Given the description of an element on the screen output the (x, y) to click on. 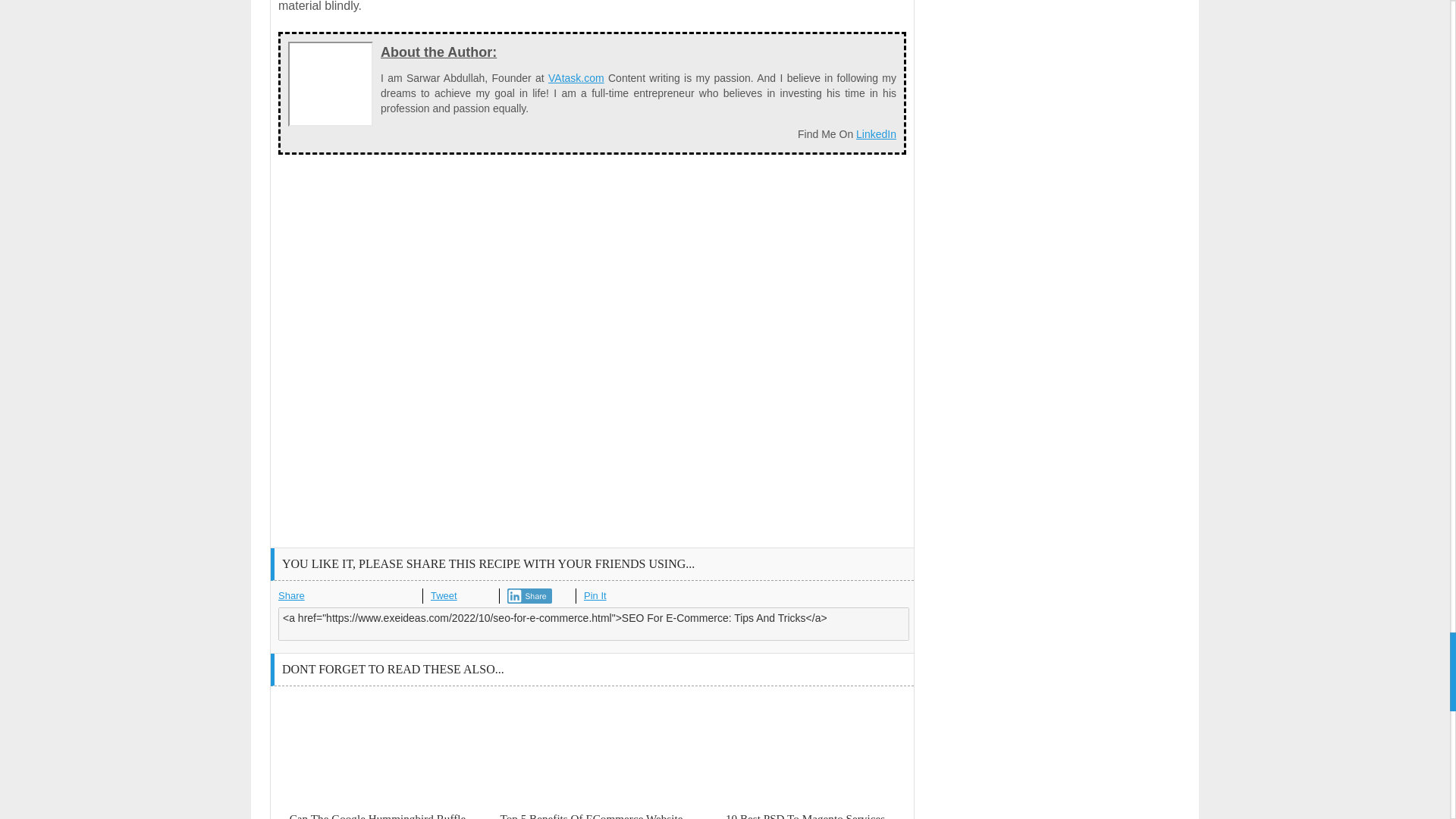
Sarwar Abdullah (330, 83)
Connect Me On LinkedIn (876, 133)
Click To Highlight The HTML Link Code (593, 623)
